Given the description of an element on the screen output the (x, y) to click on. 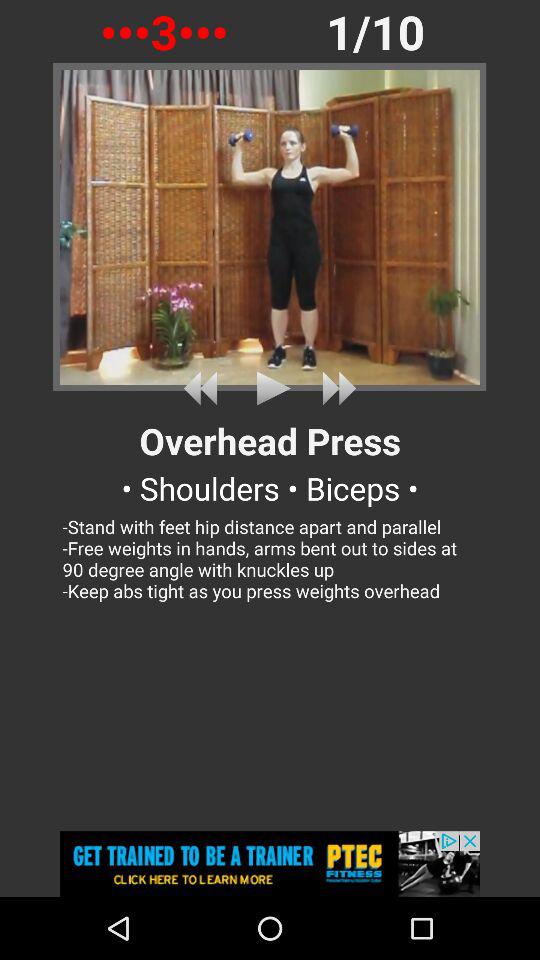
go back (204, 388)
